Given the description of an element on the screen output the (x, y) to click on. 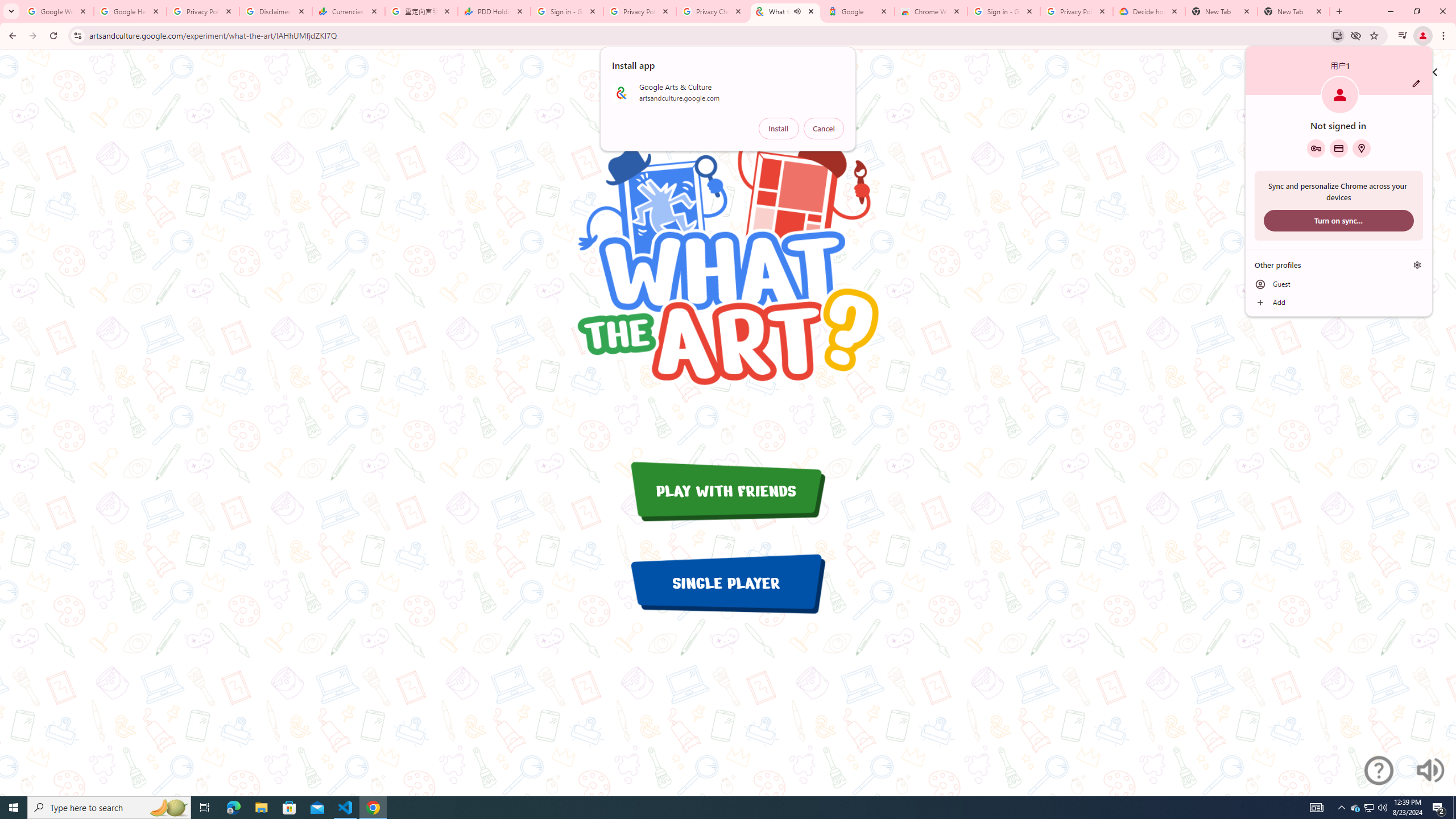
Install Google Arts & Culture (1336, 35)
Start (13, 807)
Notification Chevron (1341, 807)
Search highlights icon opens search home window (167, 807)
Microsoft Edge (233, 807)
Running applications (717, 807)
Show desktop (1454, 807)
Customize profile (1415, 83)
Privacy Checkup (712, 11)
